Given the description of an element on the screen output the (x, y) to click on. 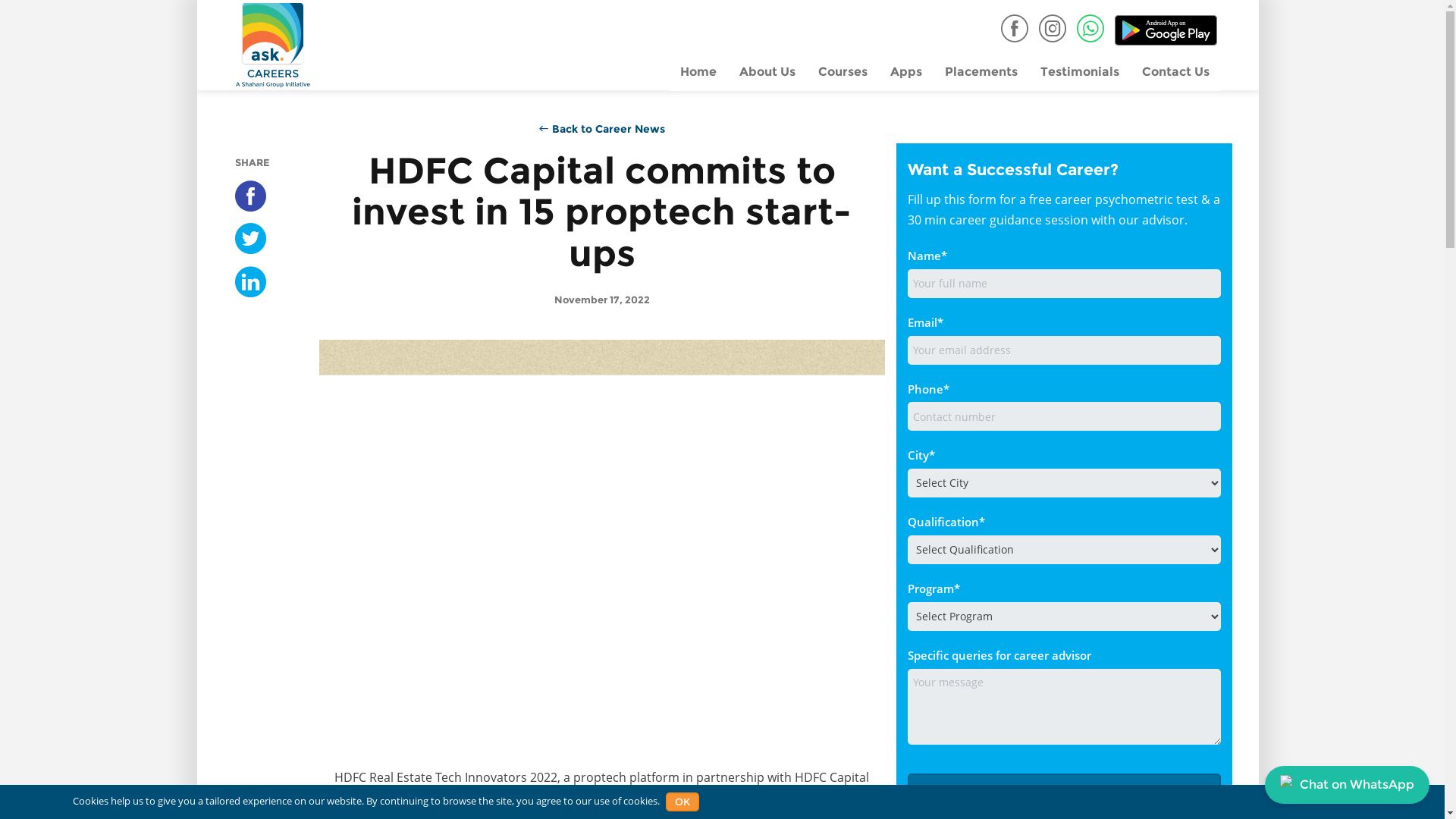
About Us (767, 73)
Home (698, 73)
Apps (906, 73)
Placements (981, 73)
Courses (842, 73)
